Given the description of an element on the screen output the (x, y) to click on. 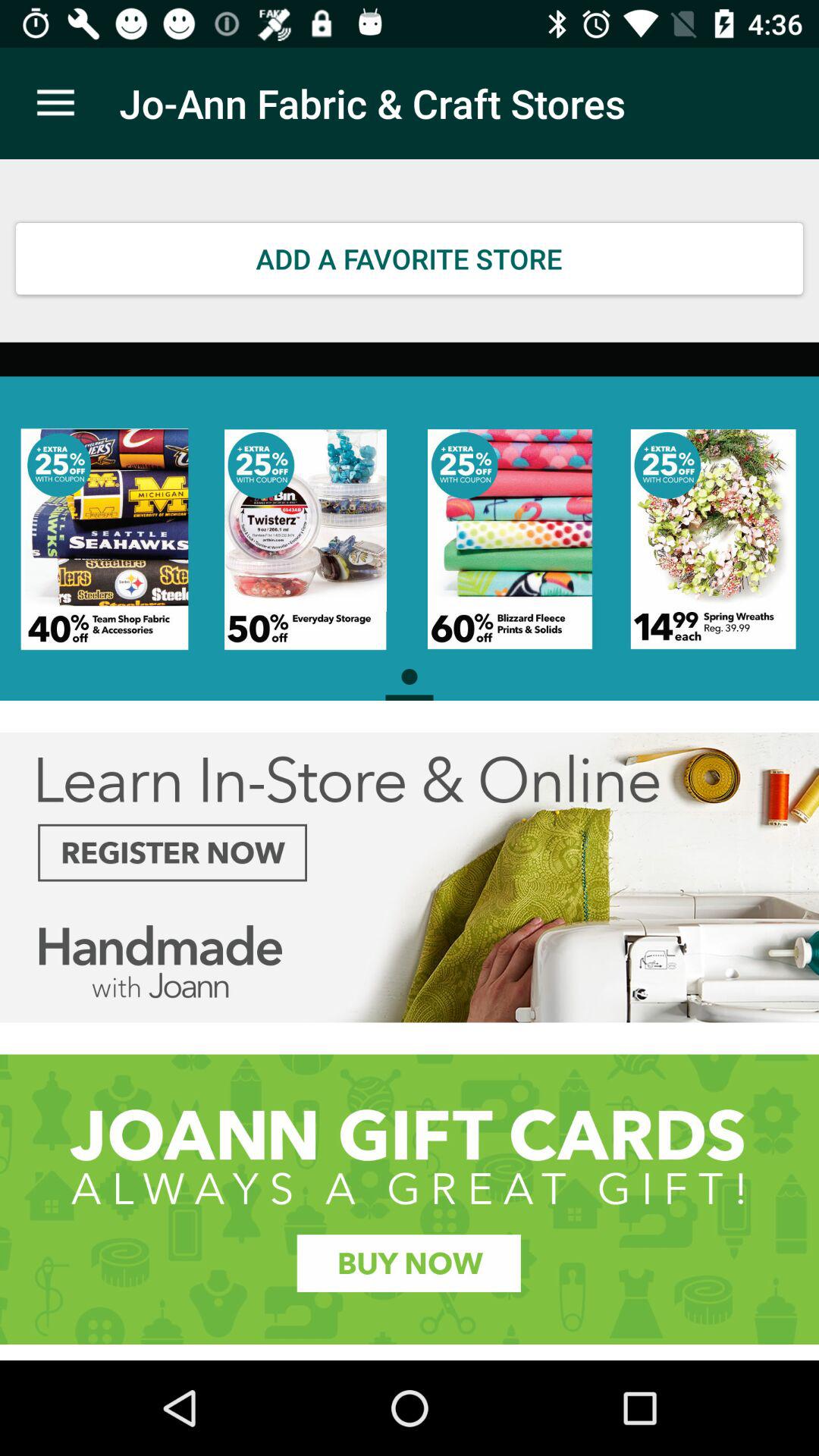
tap icon to the left of jo ann fabric app (55, 103)
